Given the description of an element on the screen output the (x, y) to click on. 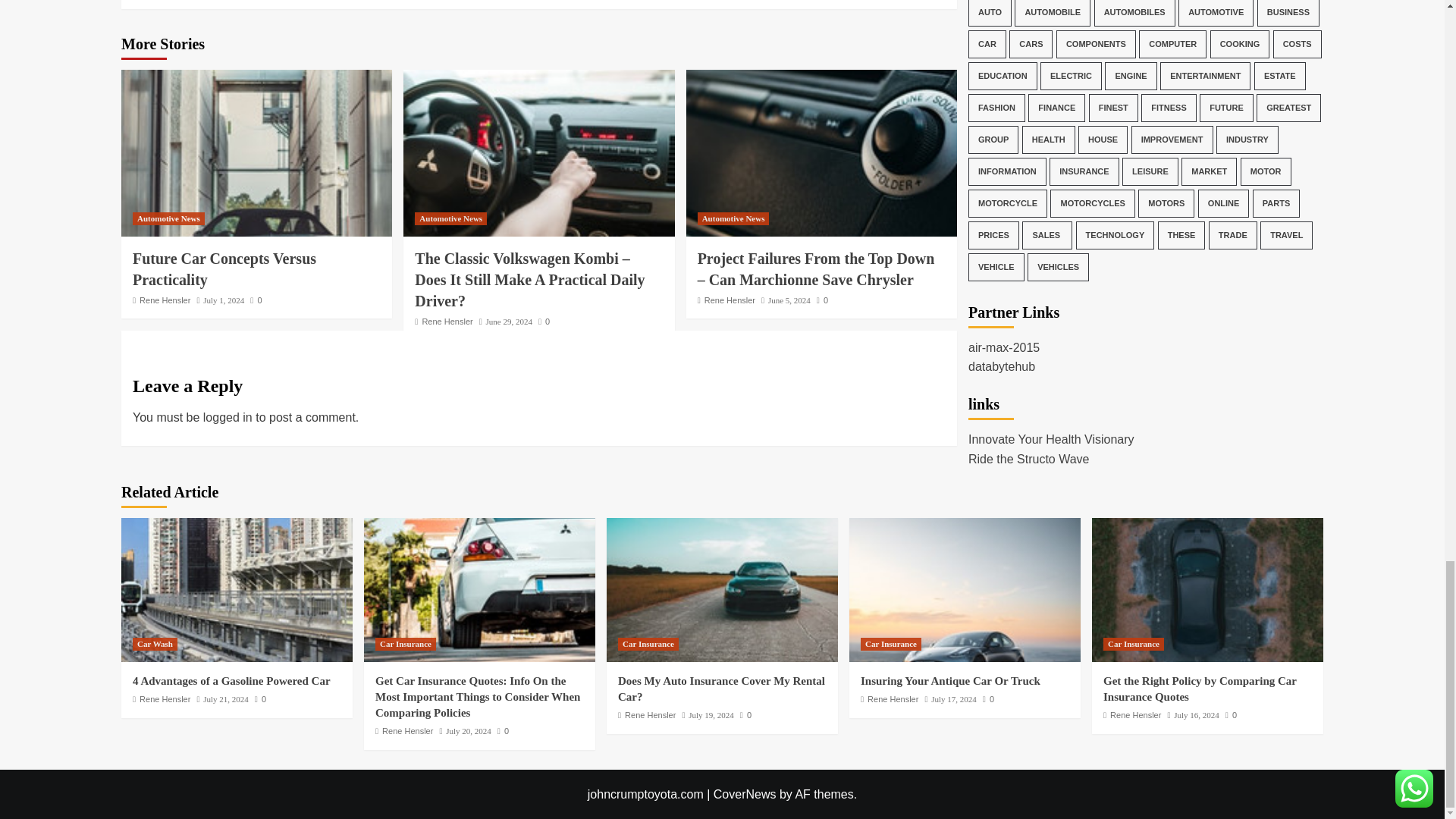
Automotive News (168, 218)
4 Advantages of a Gasoline Powered Car (236, 589)
Future Car Concepts Versus Practicality (223, 269)
Future Car Concepts Versus Practicality (255, 152)
Rene Hensler (164, 299)
Automotive News (450, 218)
June 29, 2024 (509, 320)
Rene Hensler (446, 320)
Automotive News (733, 218)
Does My Auto Insurance Cover My Rental Car? (722, 589)
July 1, 2024 (223, 299)
0 (544, 320)
0 (256, 299)
